Given the description of an element on the screen output the (x, y) to click on. 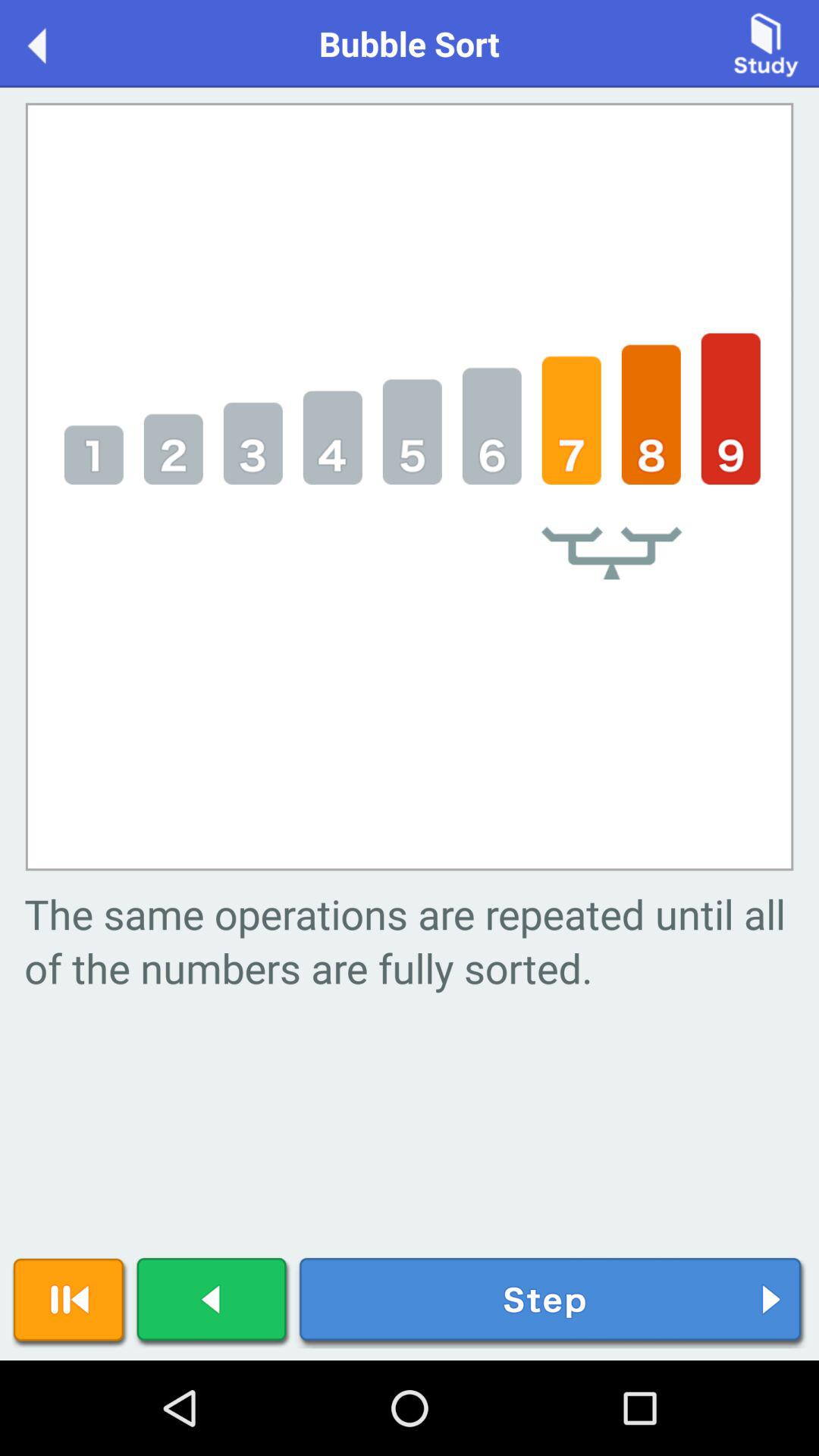
tap the item to the right of bubble sort icon (766, 42)
